Given the description of an element on the screen output the (x, y) to click on. 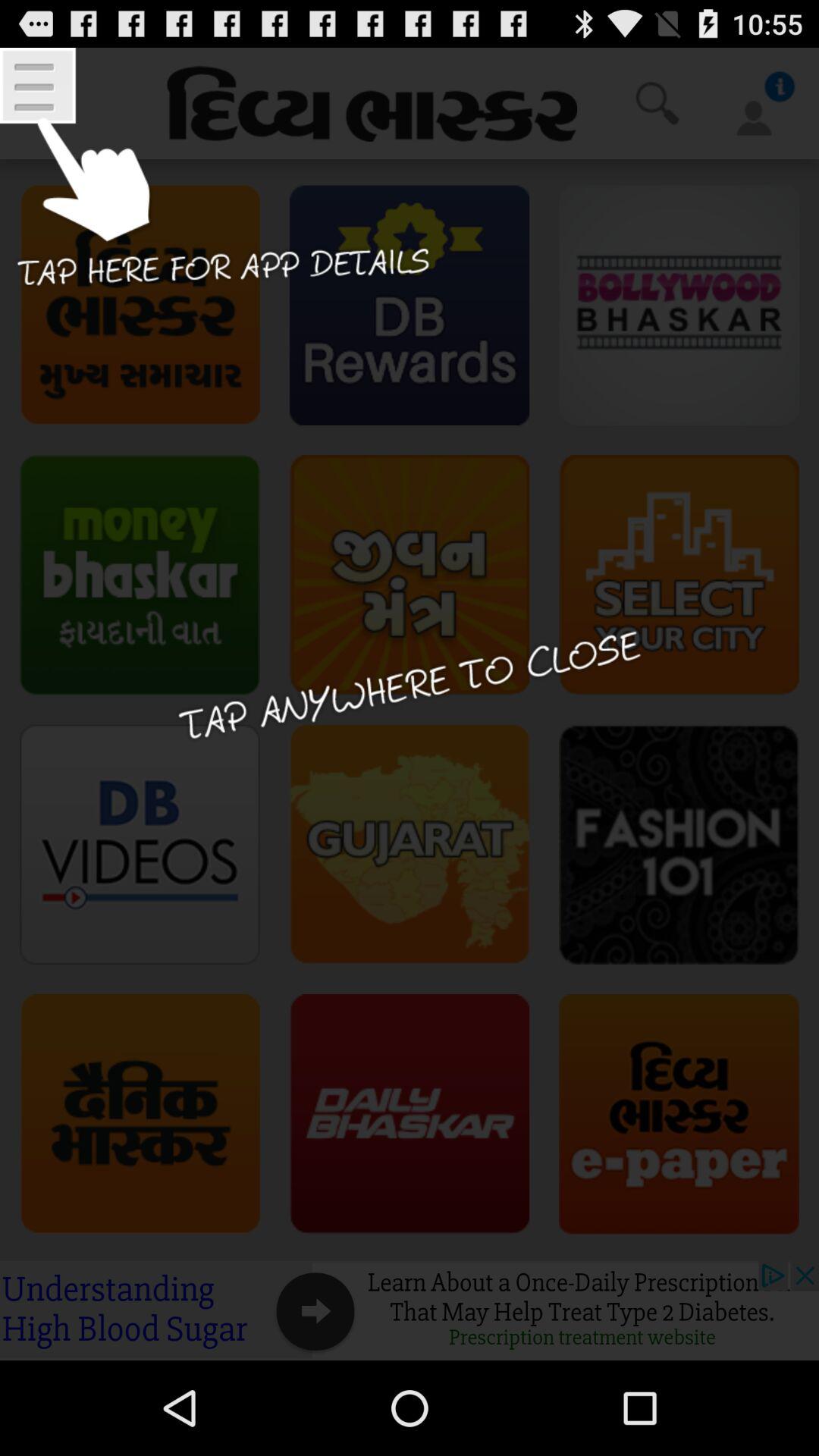
open app details (216, 187)
